Given the description of an element on the screen output the (x, y) to click on. 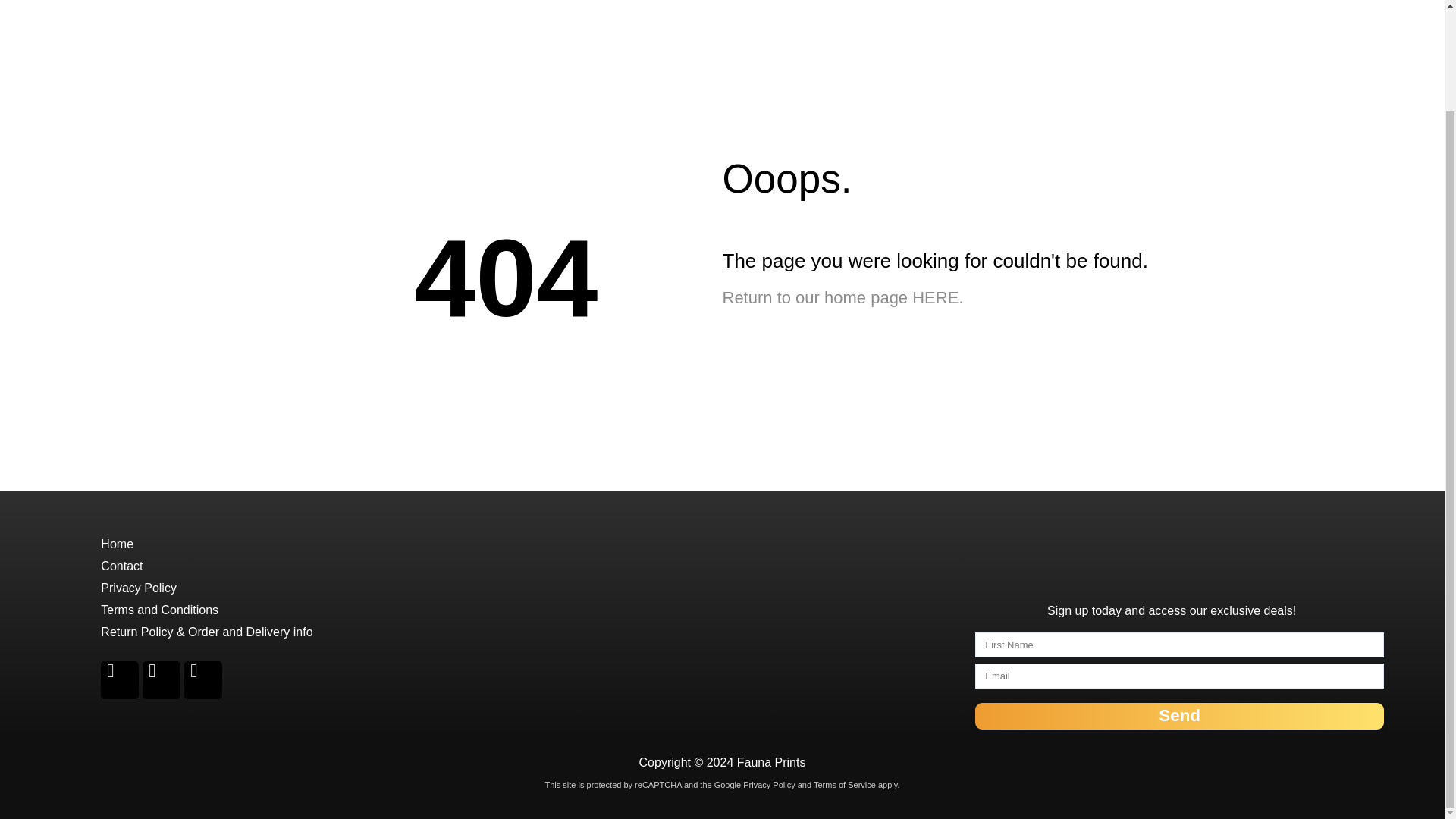
Send (1179, 715)
Privacy Policy (767, 784)
Contact (121, 565)
Pinterest (161, 679)
Terms and Conditions (159, 609)
Privacy Policy (138, 587)
Facebook (119, 679)
Terms of Service (844, 784)
Home (116, 543)
Return to our home page HERE. (842, 297)
